Given the description of an element on the screen output the (x, y) to click on. 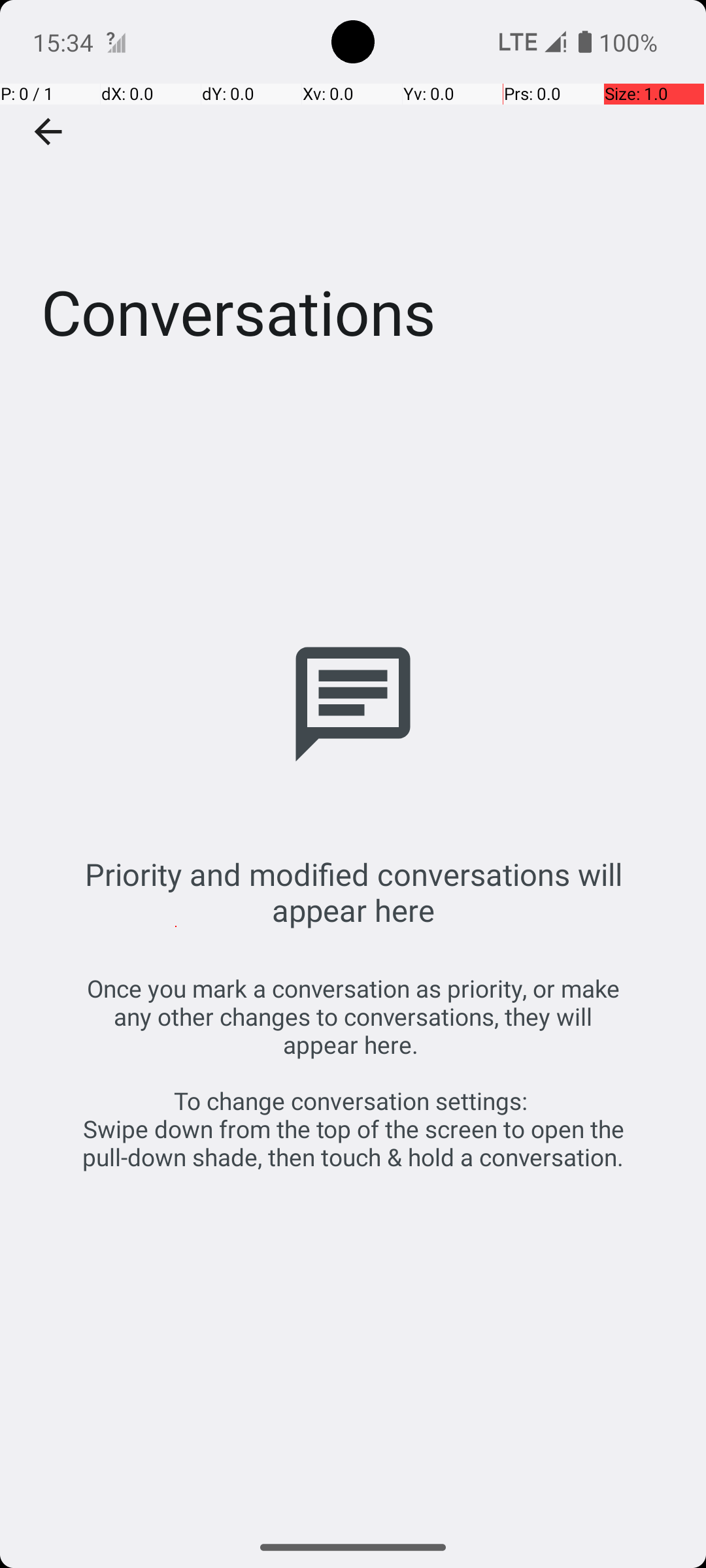
Priority and modified conversations will appear here Element type: android.widget.TextView (352, 891)
Once you mark a conversation as priority, or make any other changes to conversations, they will appear here. 

To change conversation settings: 
Swipe down from the top of the screen to open the pull-down shade, then touch & hold a conversation. Element type: android.widget.TextView (352, 1072)
